Given the description of an element on the screen output the (x, y) to click on. 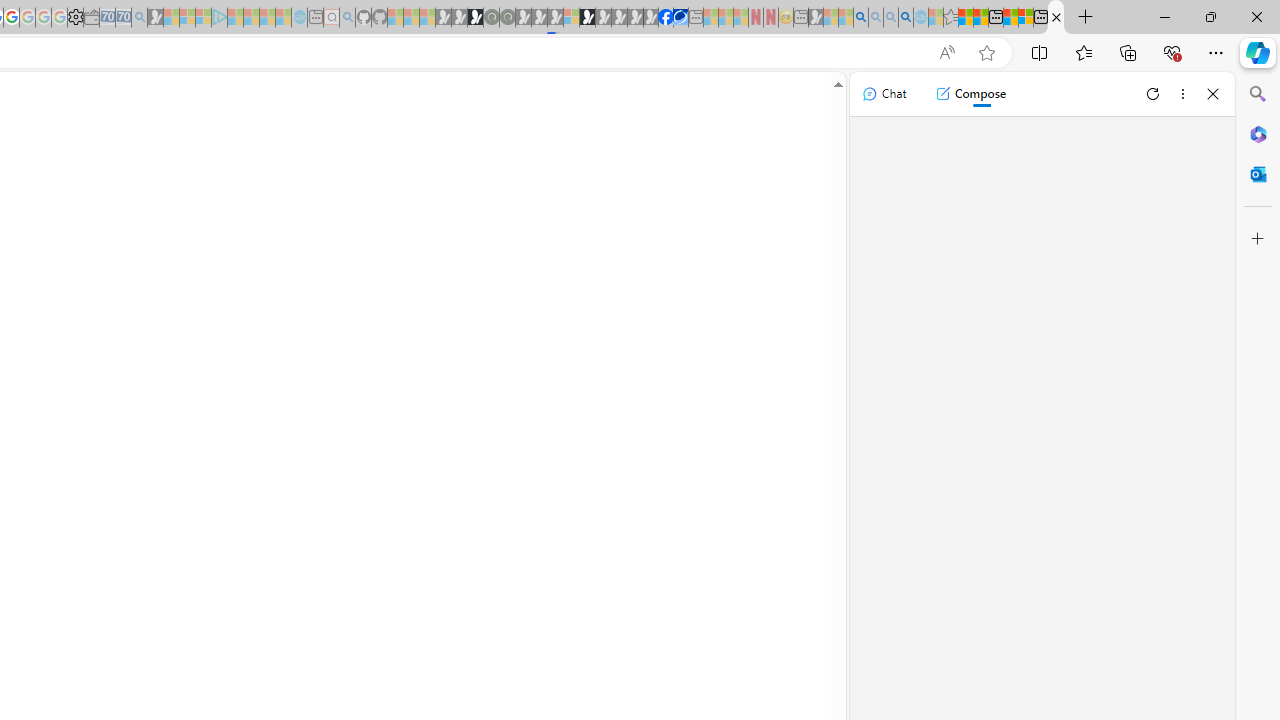
Chat (884, 93)
Future Focus Report 2024 - Sleeping (507, 17)
github - Search - Sleeping (347, 17)
Microsoft Start Gaming - Sleeping (155, 17)
